Given the description of an element on the screen output the (x, y) to click on. 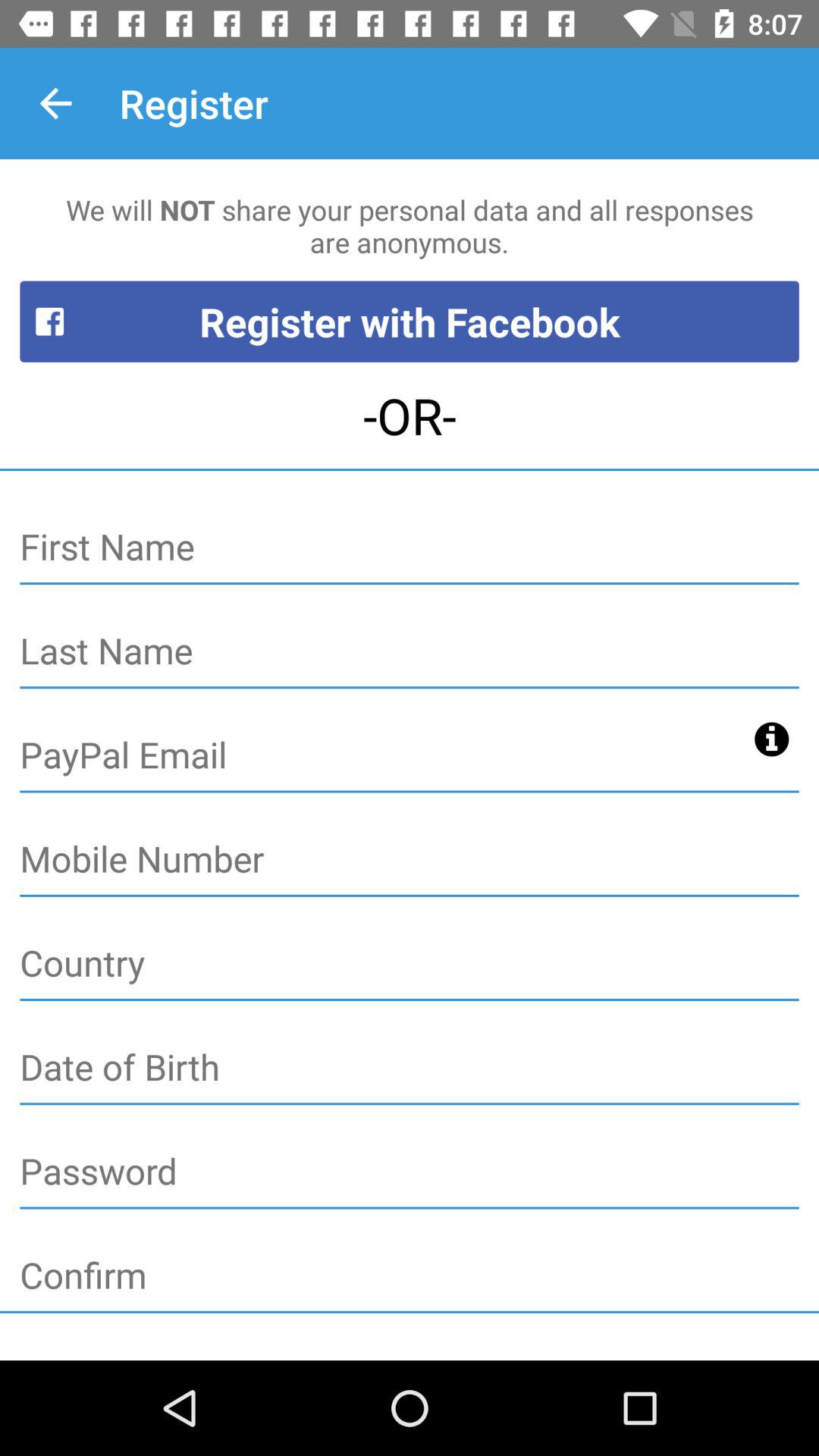
launch the item on the right (771, 739)
